Given the description of an element on the screen output the (x, y) to click on. 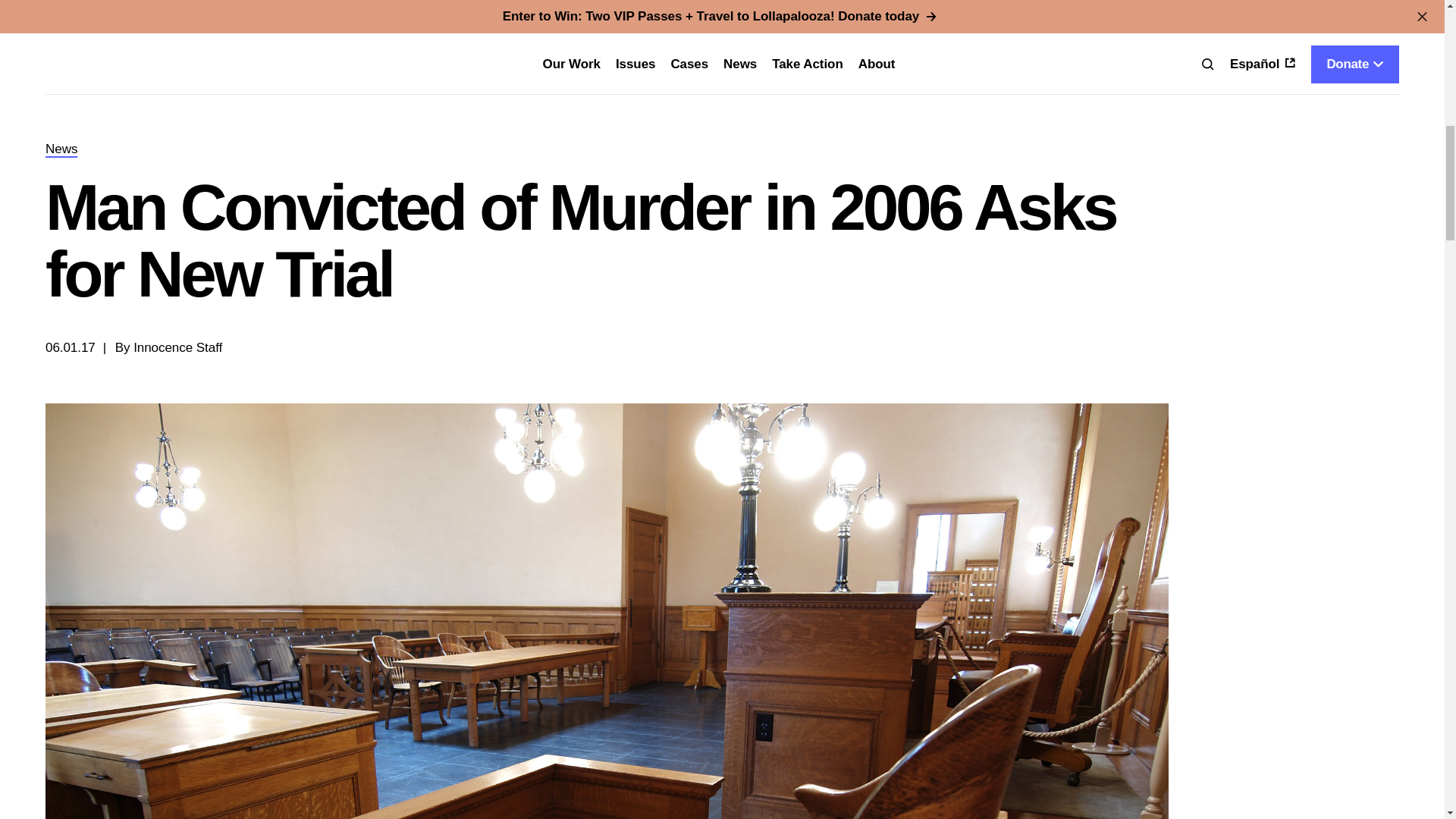
Our Work (573, 64)
Take Action (807, 64)
Issues (635, 64)
Cases (689, 64)
News (740, 64)
